Given the description of an element on the screen output the (x, y) to click on. 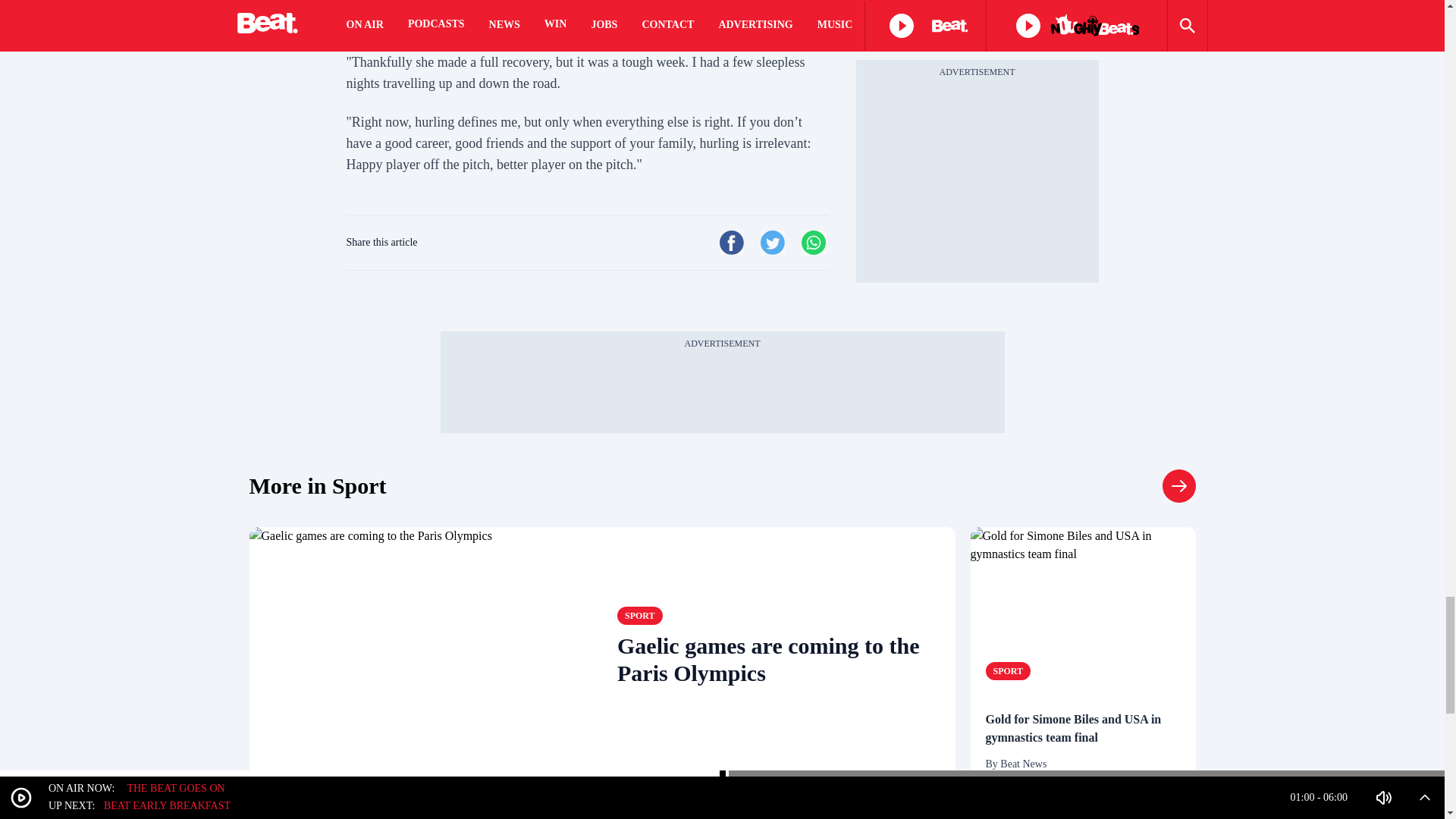
Sport (316, 485)
Sport (639, 615)
Gold for Simone Biles and USA in gymnastics team final (1082, 728)
Gaelic games are coming to the Paris Olympics (425, 660)
Gaelic games are coming to the Paris Olympics (778, 659)
Sport (1007, 670)
Sport (1178, 485)
